Given the description of an element on the screen output the (x, y) to click on. 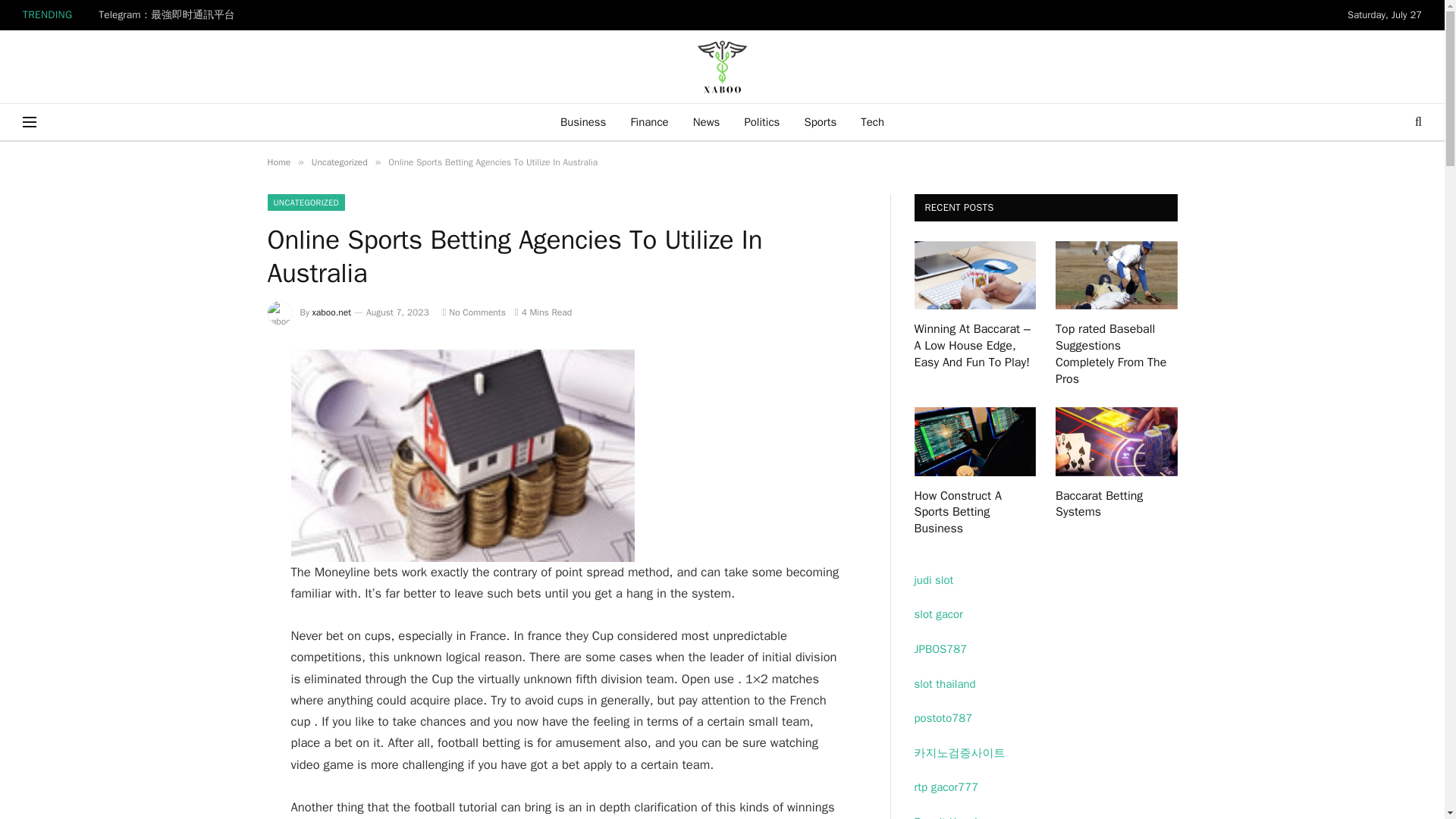
Finance (648, 122)
How Construct A Sports Betting Business (975, 512)
Top rated Baseball Suggestions Completely From The Pros (1116, 354)
Business (583, 122)
UNCATEGORIZED (305, 202)
Politics (762, 122)
Home (277, 162)
Xaboo (722, 66)
Top rated Baseball Suggestions Completely From The Pros (1116, 274)
No Comments (473, 312)
xaboo.net (332, 312)
Uncategorized (339, 162)
Tech (872, 122)
Baccarat Betting Systems (1116, 441)
Sports (820, 122)
